Given the description of an element on the screen output the (x, y) to click on. 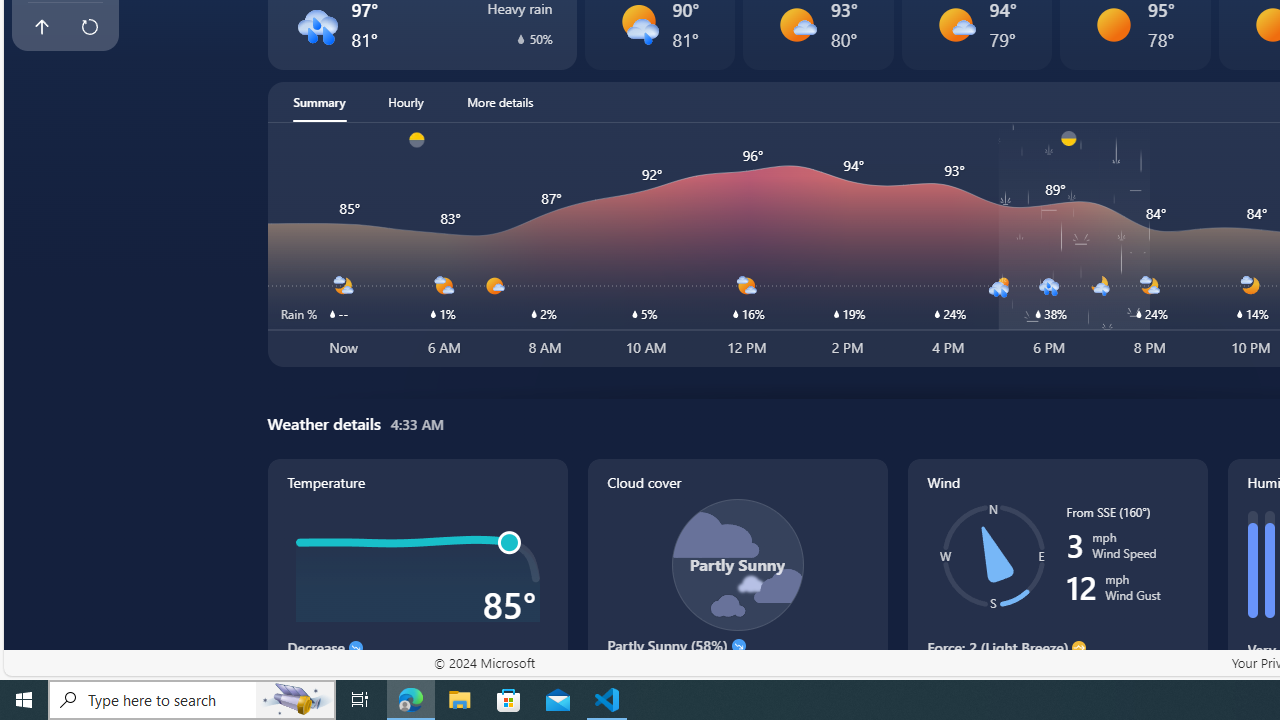
Wind (1057, 584)
Hourly (406, 101)
Refresh this page (89, 26)
Heavy rain (316, 24)
Cloud cover (737, 584)
Light rain showers (638, 24)
Decreasing with mostly sunny sky at 8:00 AM. (736, 674)
Decrease (355, 647)
Summary (319, 101)
Mostly sunny (954, 24)
Back to top (41, 26)
